Given the description of an element on the screen output the (x, y) to click on. 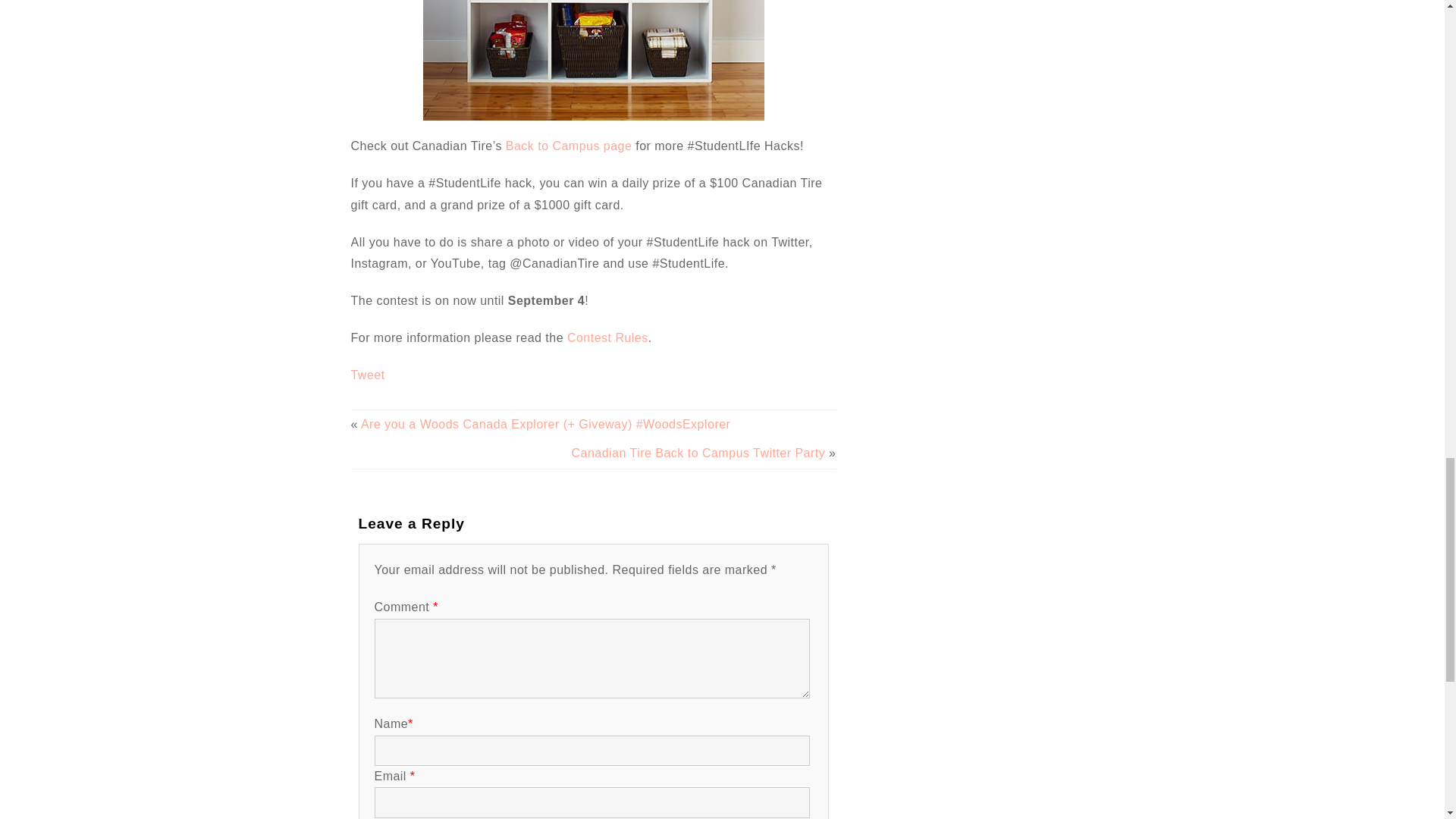
Contest Rules (607, 337)
Tweet (367, 374)
Back to Campus page (568, 145)
Canadian Tire Back to Campus Twitter Party (698, 452)
